Given the description of an element on the screen output the (x, y) to click on. 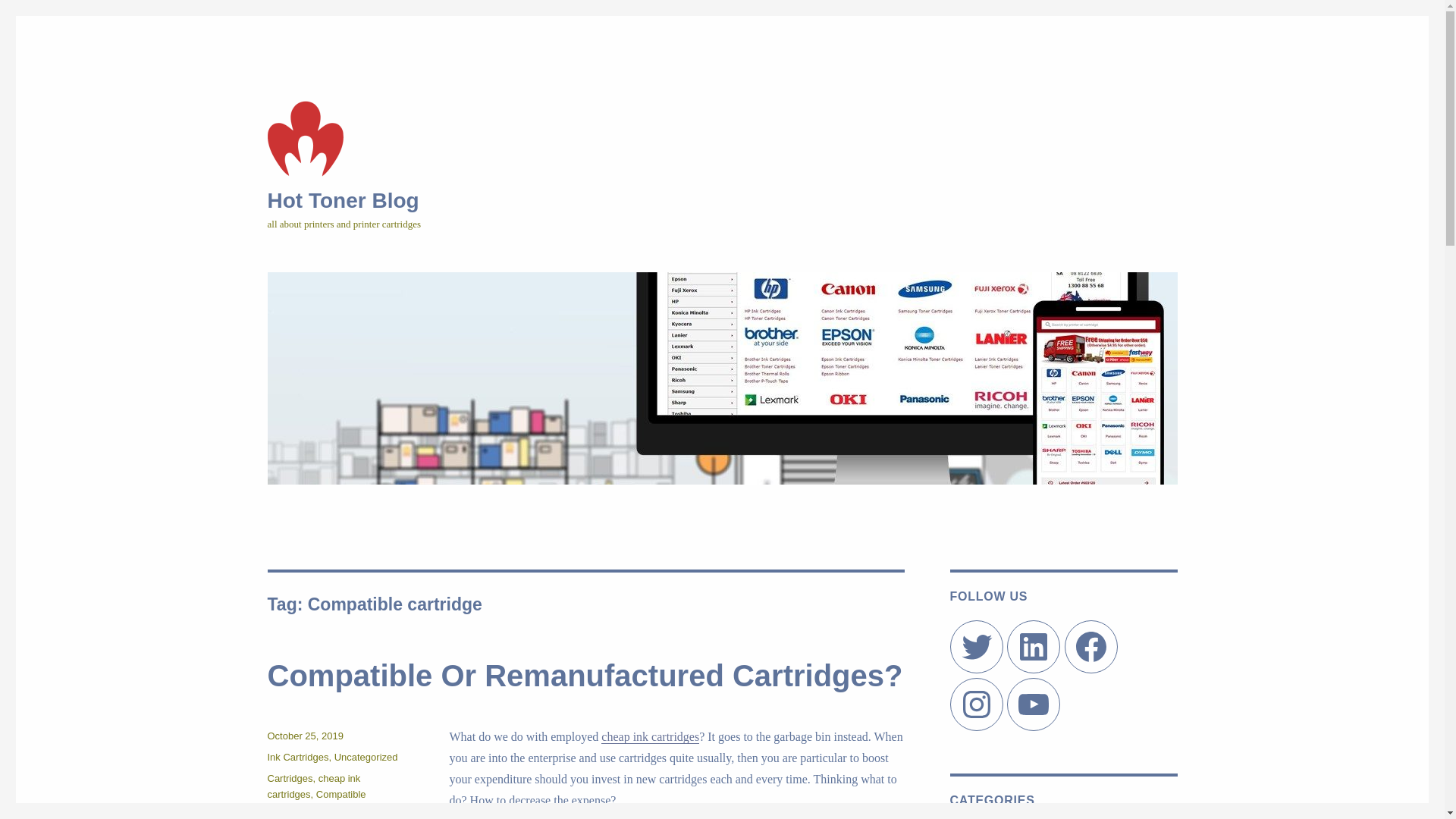
Instagram Element type: text (975, 704)
cheap ink cartridges Element type: text (650, 736)
Twitter Element type: text (975, 646)
Hot Toner Blog Element type: text (342, 200)
Cartridges Element type: text (289, 778)
LinkedIn Element type: text (1033, 646)
October 25, 2019 Element type: text (304, 735)
Uncategorized Element type: text (366, 756)
cheap ink cartridges Element type: text (313, 786)
Ink Cartridges Element type: text (297, 756)
Compatible Or Remanufactured Cartridges? Element type: text (584, 675)
YouTube Element type: text (1033, 704)
Facebook Element type: text (1090, 646)
Compatible cartridge Element type: text (315, 801)
